Given the description of an element on the screen output the (x, y) to click on. 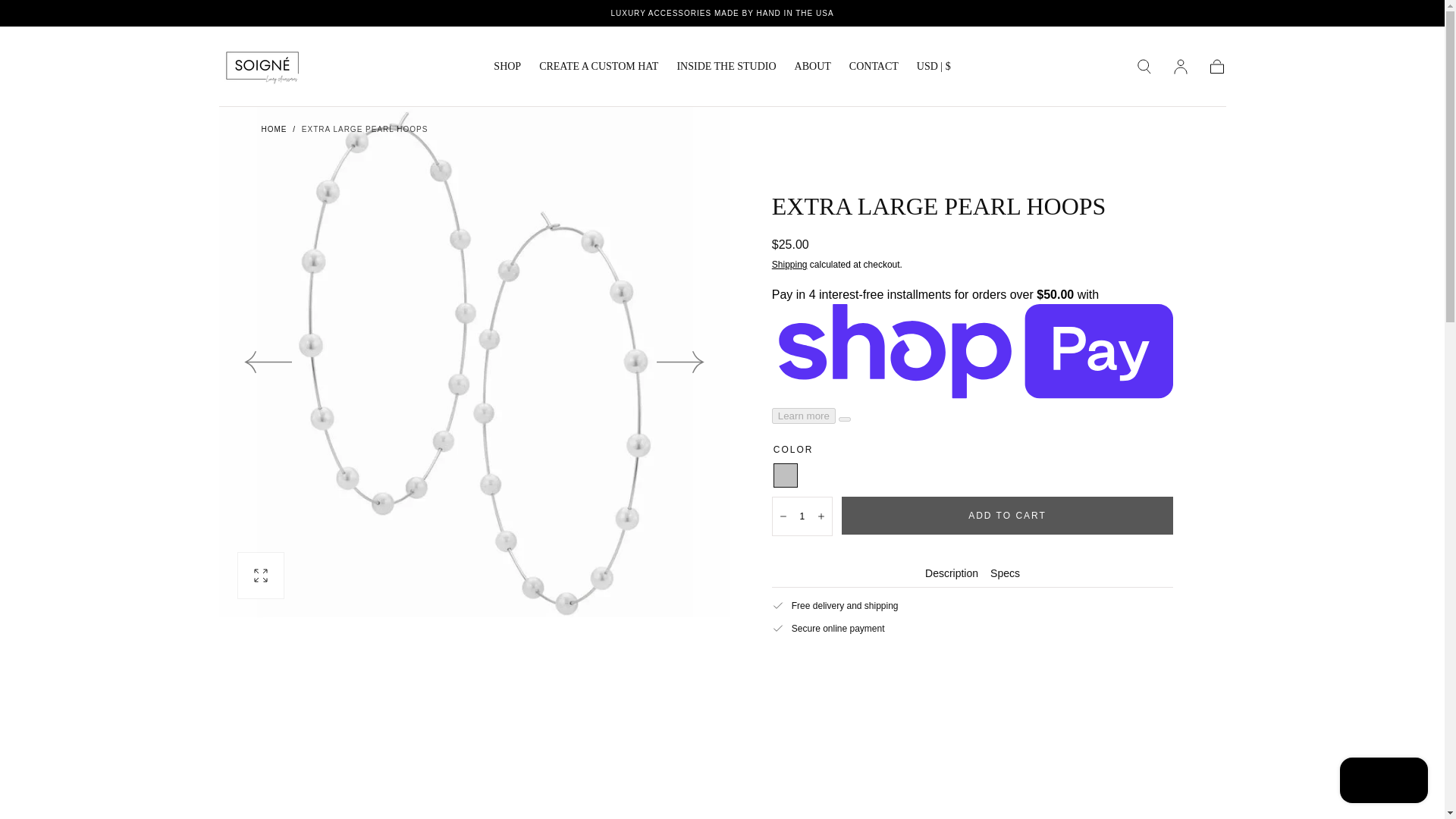
Cart (1216, 66)
Shopify online store chat (1383, 781)
Sign in (1179, 66)
Silver (785, 475)
Skip to content (67, 18)
